Given the description of an element on the screen output the (x, y) to click on. 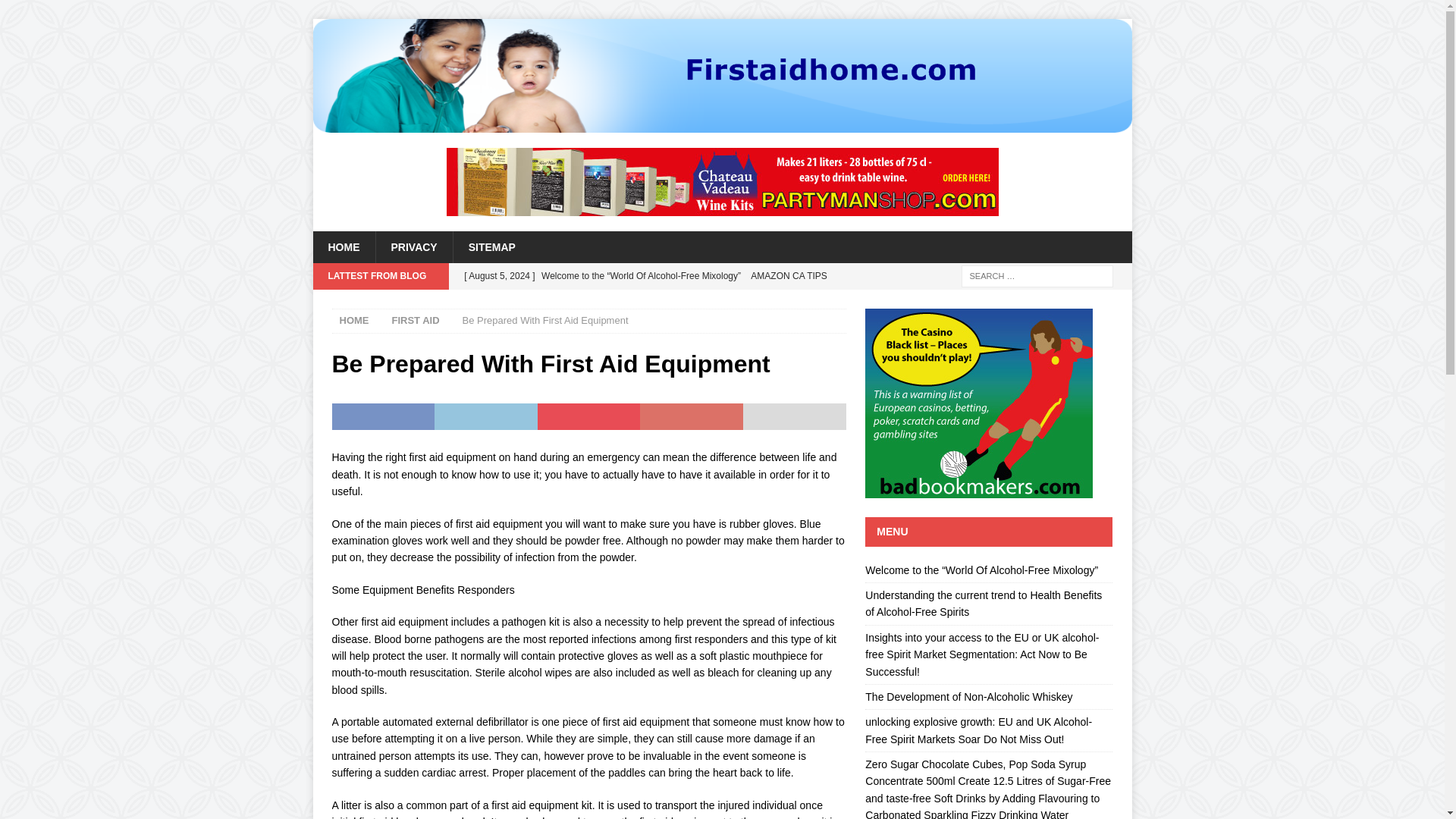
FIRST AID (415, 319)
Partymanshop.com - Chateau Vadeau wine kits (721, 182)
First Aid Home (722, 123)
SITEMAP (491, 246)
The Development of Non-Alcoholic Whiskey (967, 696)
HOME (354, 319)
